Given the description of an element on the screen output the (x, y) to click on. 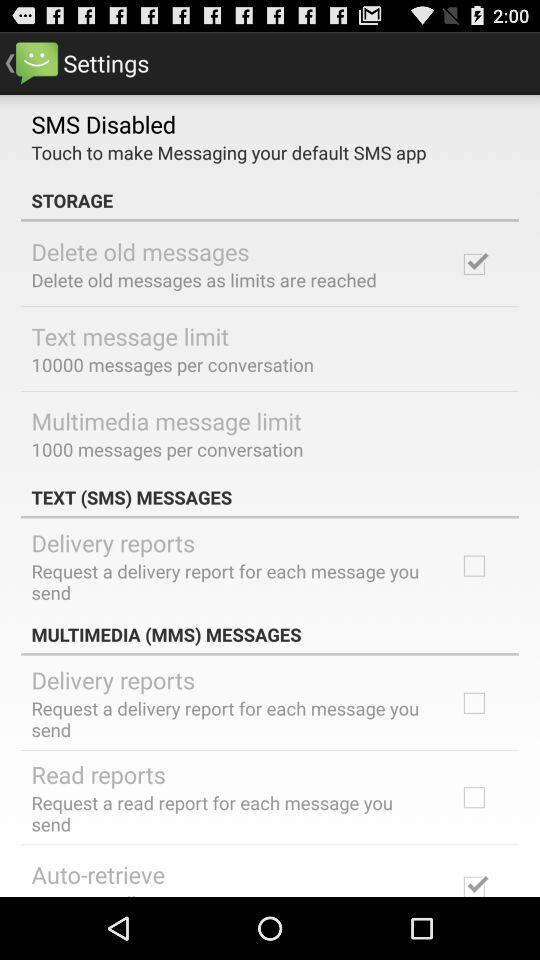
scroll to storage item (270, 200)
